Given the description of an element on the screen output the (x, y) to click on. 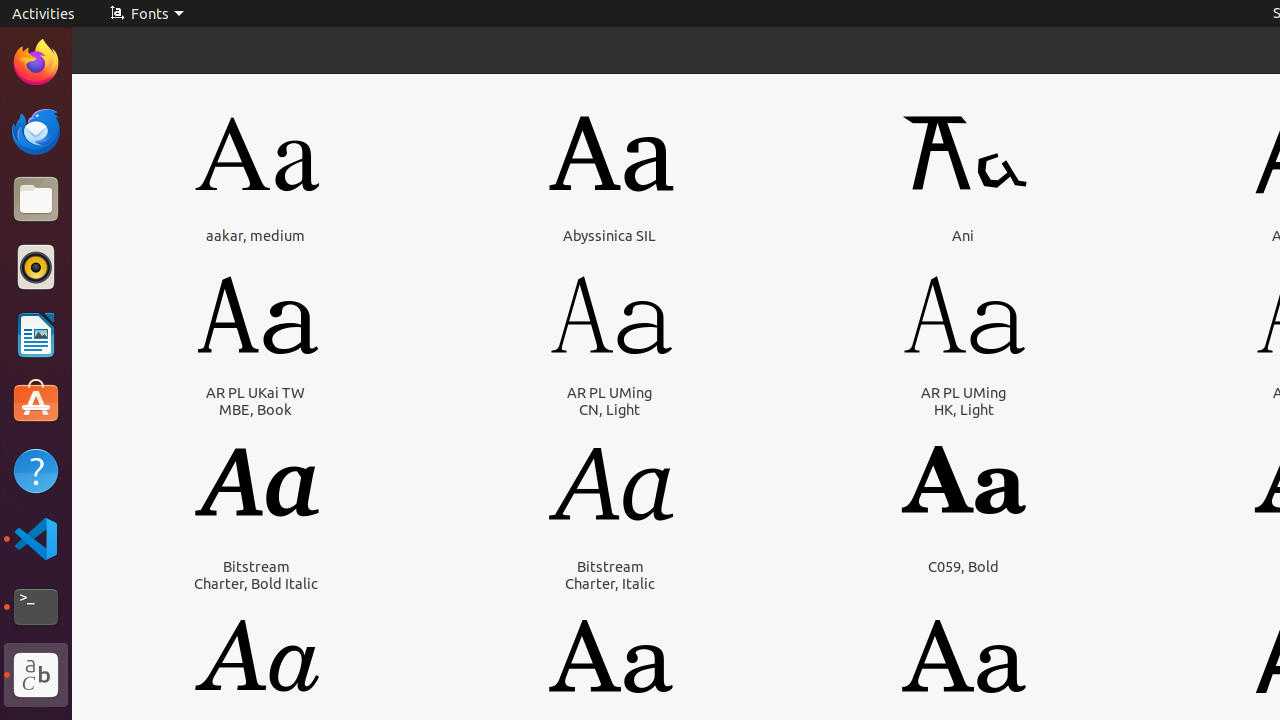
Ani Element type: label (963, 235)
IsaHelpMain.desktop Element type: label (133, 300)
Firefox Web Browser Element type: push-button (36, 63)
AR PL UMing HK, Light Element type: label (963, 401)
